Given the description of an element on the screen output the (x, y) to click on. 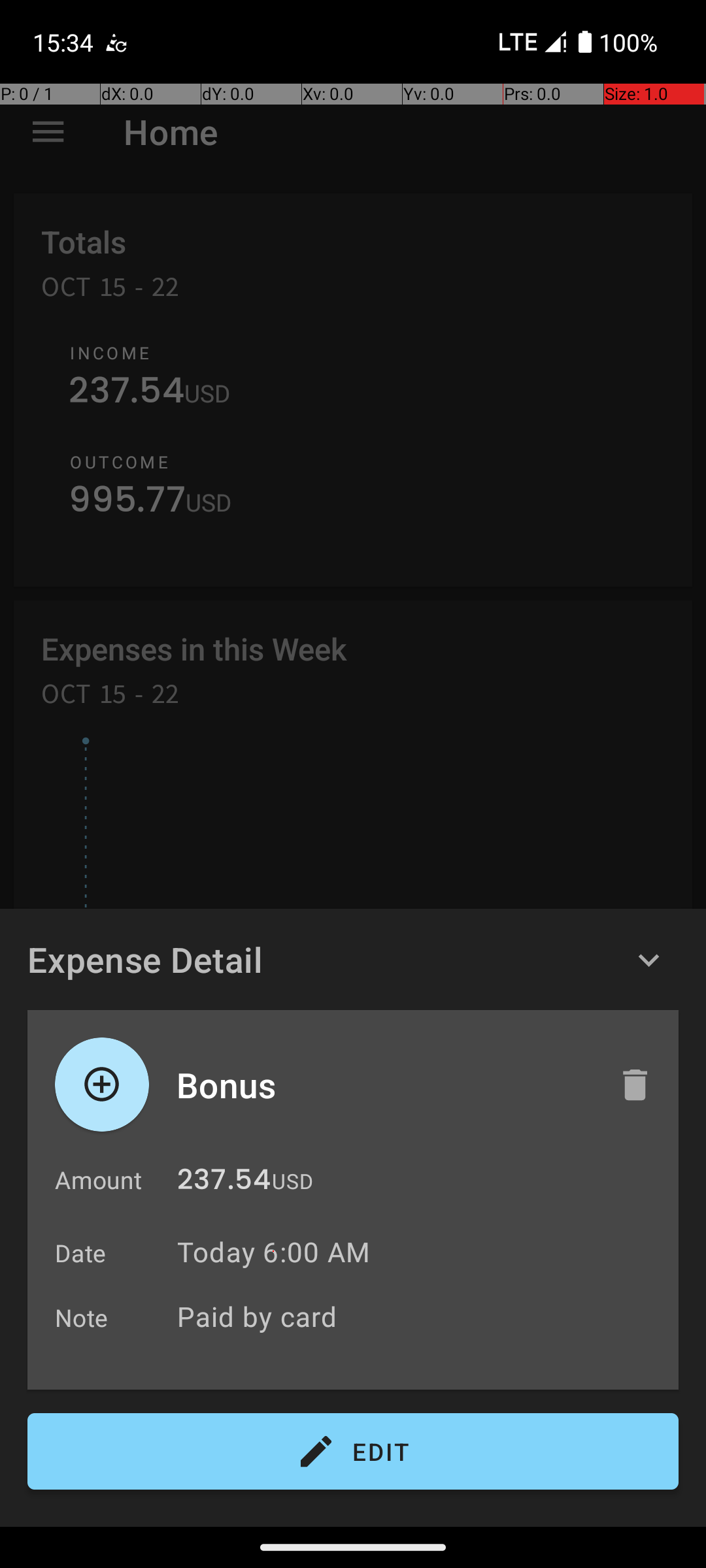
Bonus Element type: android.widget.TextView (383, 1084)
237.54 Element type: android.widget.TextView (223, 1182)
Today 6:00 AM Element type: android.widget.TextView (273, 1251)
